Given the description of an element on the screen output the (x, y) to click on. 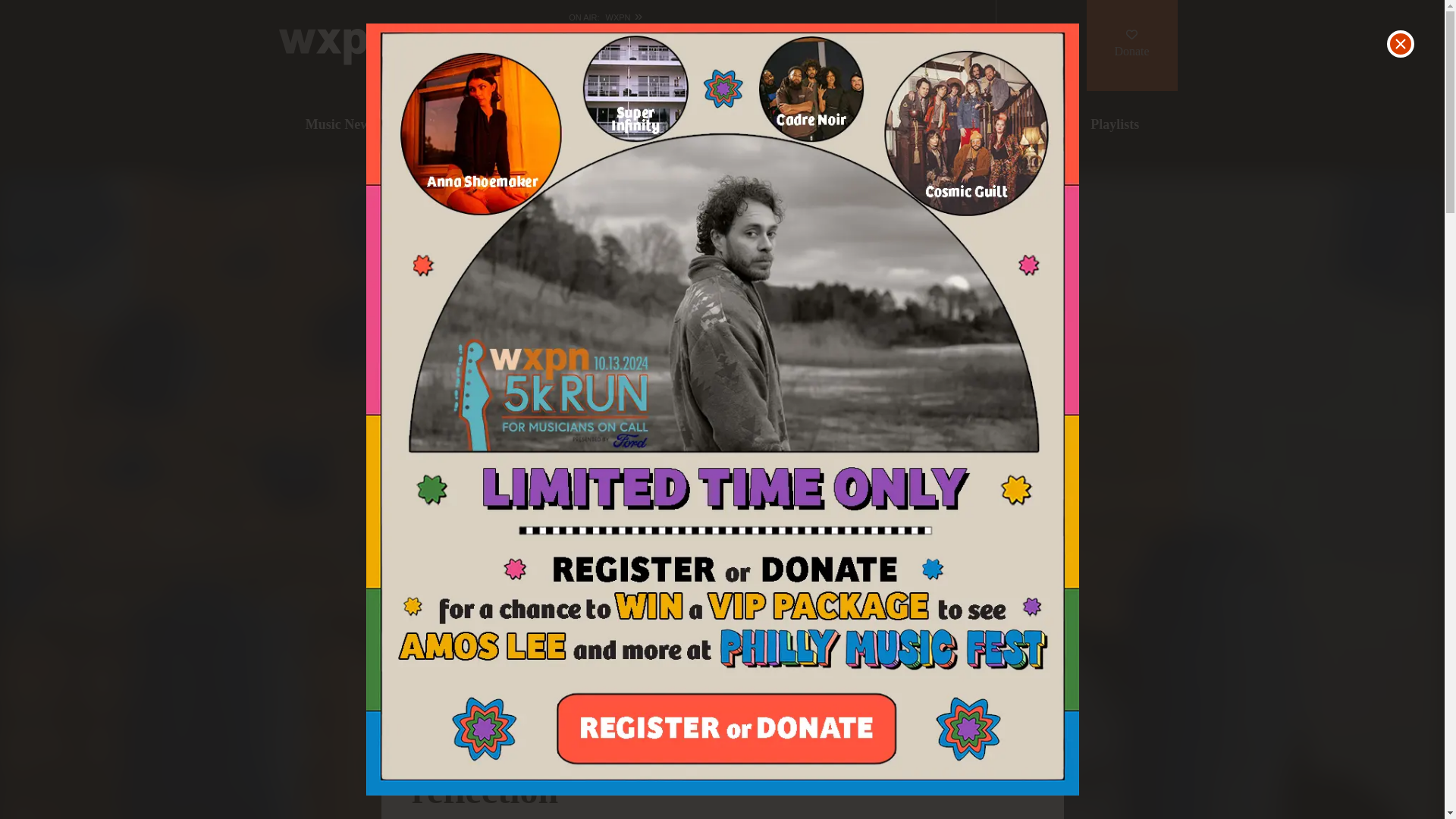
Video Sessions (703, 125)
Playlists (1114, 125)
Contact Us (861, 57)
Radio Shows (975, 125)
Tell Me More (944, 57)
Donate (1131, 45)
Support Us (938, 35)
About Us (778, 35)
Membership (864, 35)
Artists (841, 125)
The Concert Calendar (517, 125)
Music News (340, 125)
Volunteer (778, 57)
